Given the description of an element on the screen output the (x, y) to click on. 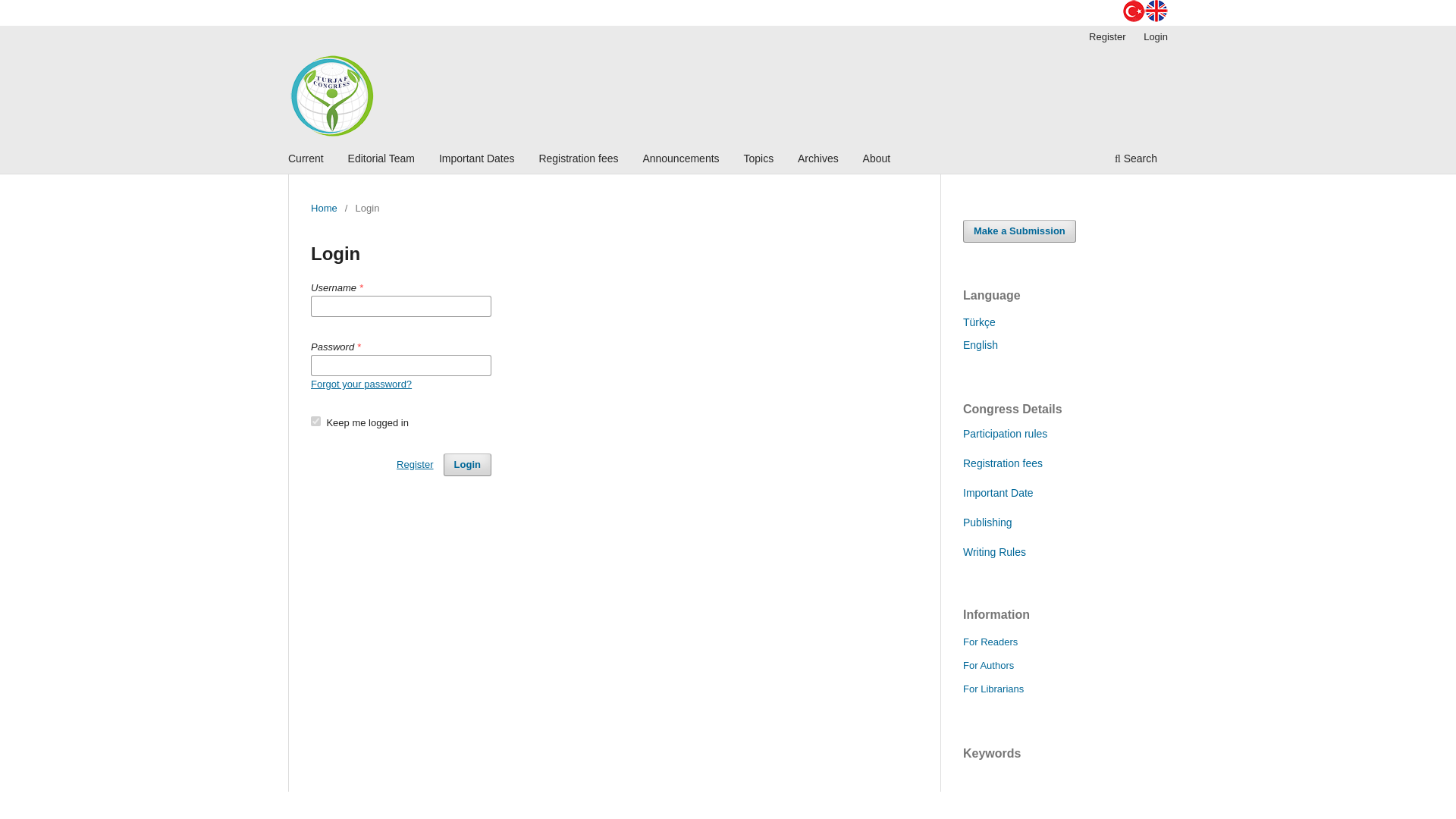
Writing Rules (994, 551)
Register (1106, 36)
Login (468, 464)
Archives (818, 160)
Registration fees (577, 160)
Forgot your password? (361, 383)
Publishing (986, 522)
For Readers (989, 641)
Topics (758, 160)
Current (305, 160)
For Authors (987, 665)
Registration fees (1002, 463)
English (979, 345)
Home (324, 208)
For Librarians (992, 688)
